Given the description of an element on the screen output the (x, y) to click on. 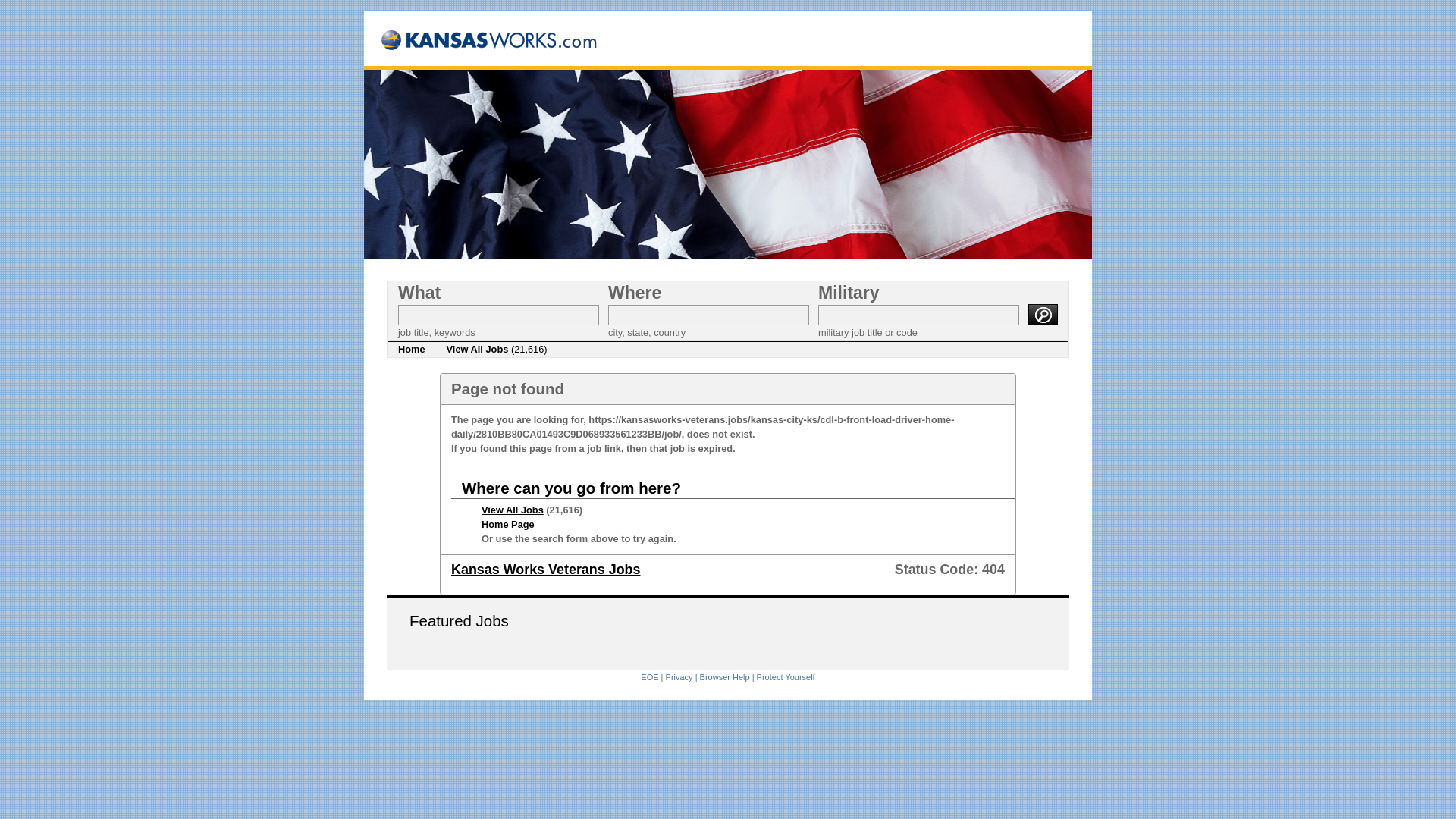
Search Location (708, 314)
Home (411, 349)
Search Phrase (497, 314)
search (1042, 314)
EOE (649, 675)
Protect Yourself (786, 675)
Search MOC (918, 314)
Home Page (507, 523)
search (1042, 314)
Privacy (679, 675)
Submit Search (1042, 314)
Browser Help (724, 675)
View All Jobs (512, 509)
Kansas Works Veterans Jobs (545, 569)
